Given the description of an element on the screen output the (x, y) to click on. 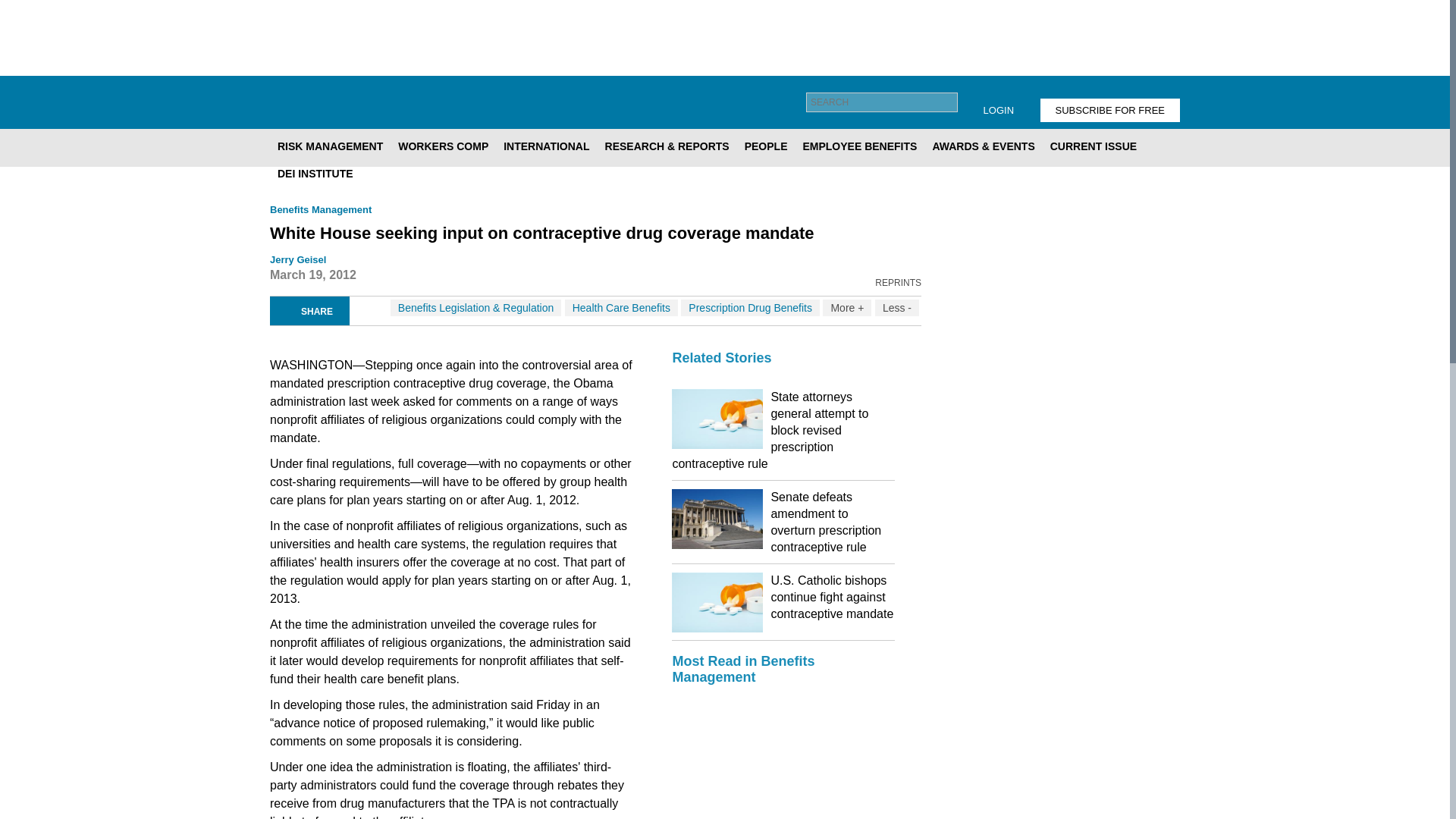
LOGIN (998, 110)
WORKERS COMP (443, 145)
RISK MANAGEMENT (329, 145)
PEOPLE (765, 145)
SUBSCRIBE FOR FREE (1110, 110)
INTERNATIONAL (546, 145)
Help (990, 101)
